Given the description of an element on the screen output the (x, y) to click on. 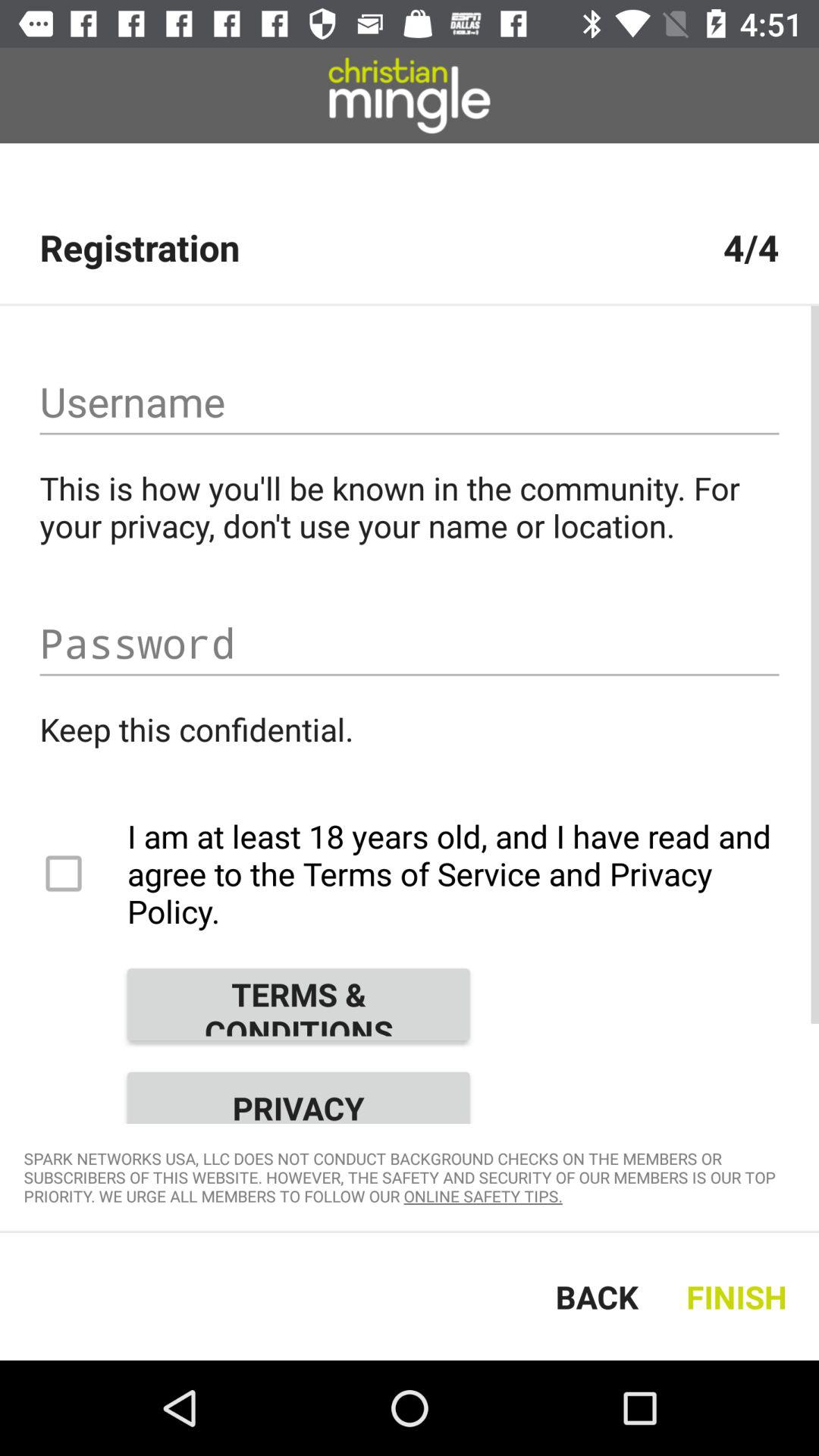
enter password (409, 642)
